Given the description of an element on the screen output the (x, y) to click on. 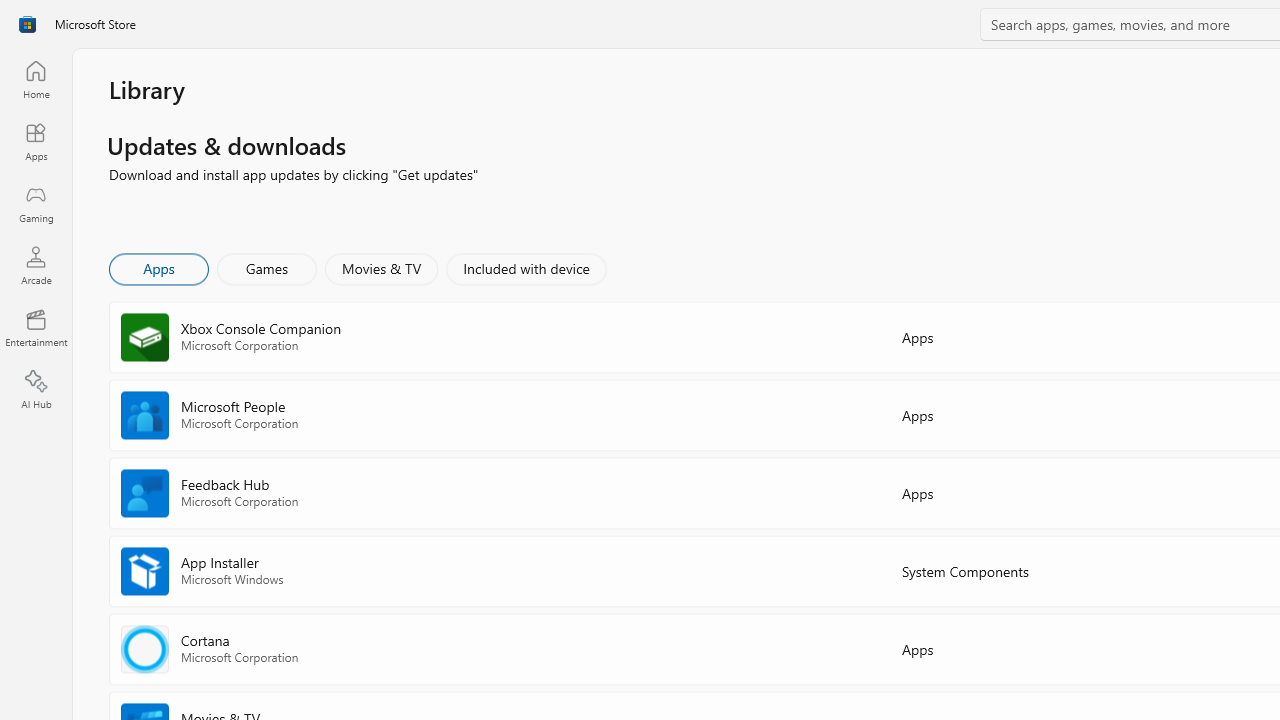
Games (267, 268)
Movies & TV (381, 268)
Included with device (525, 268)
